Given the description of an element on the screen output the (x, y) to click on. 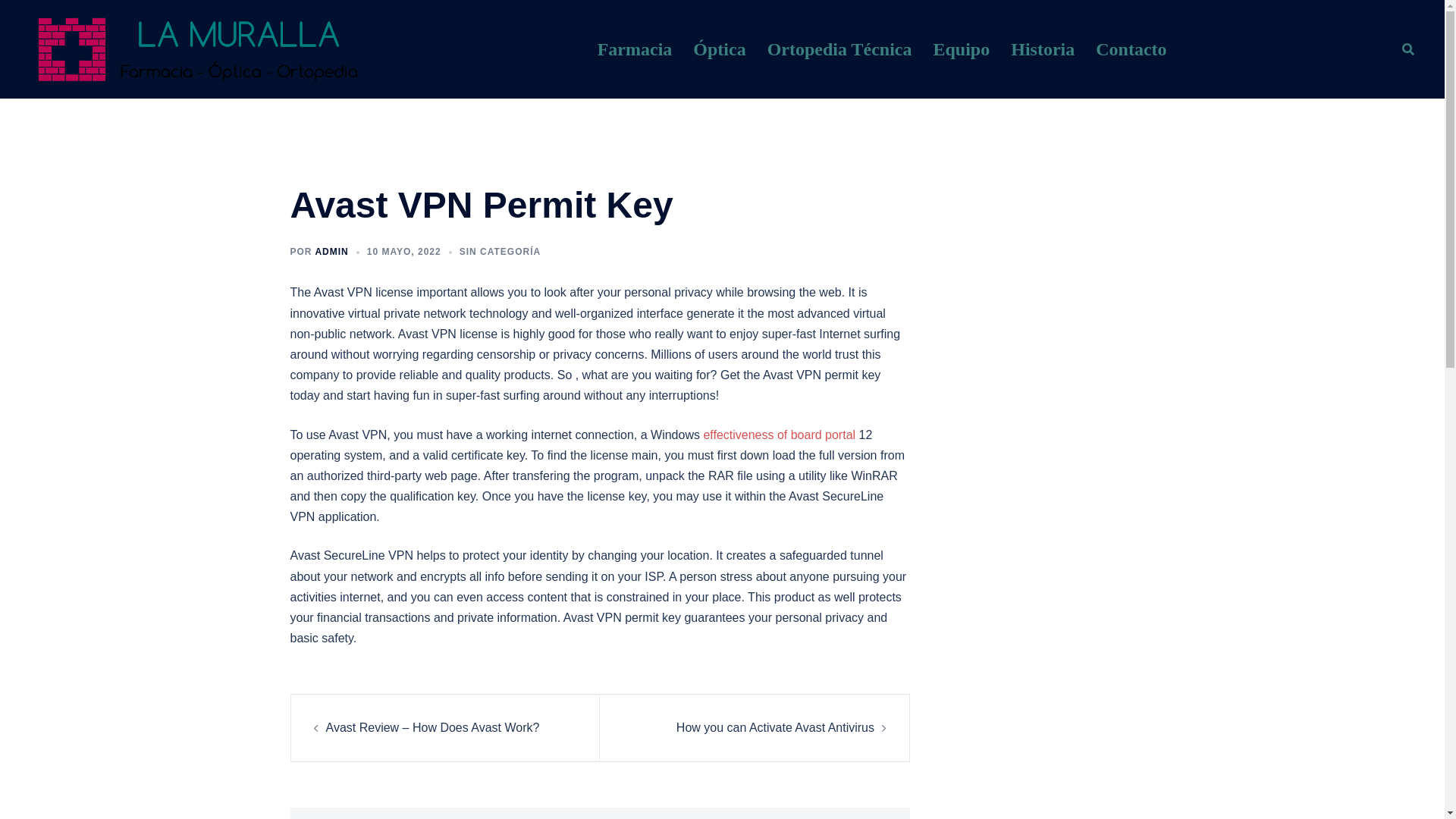
Farmacia (634, 49)
Farmacia la Muralla (195, 47)
Historia (1042, 49)
10 MAYO, 2022 (403, 251)
ADMIN (330, 251)
Contacto (1131, 49)
Equipo (961, 49)
effectiveness of board portal (779, 433)
How you can Activate Avast Antivirus (776, 727)
